Given the description of an element on the screen output the (x, y) to click on. 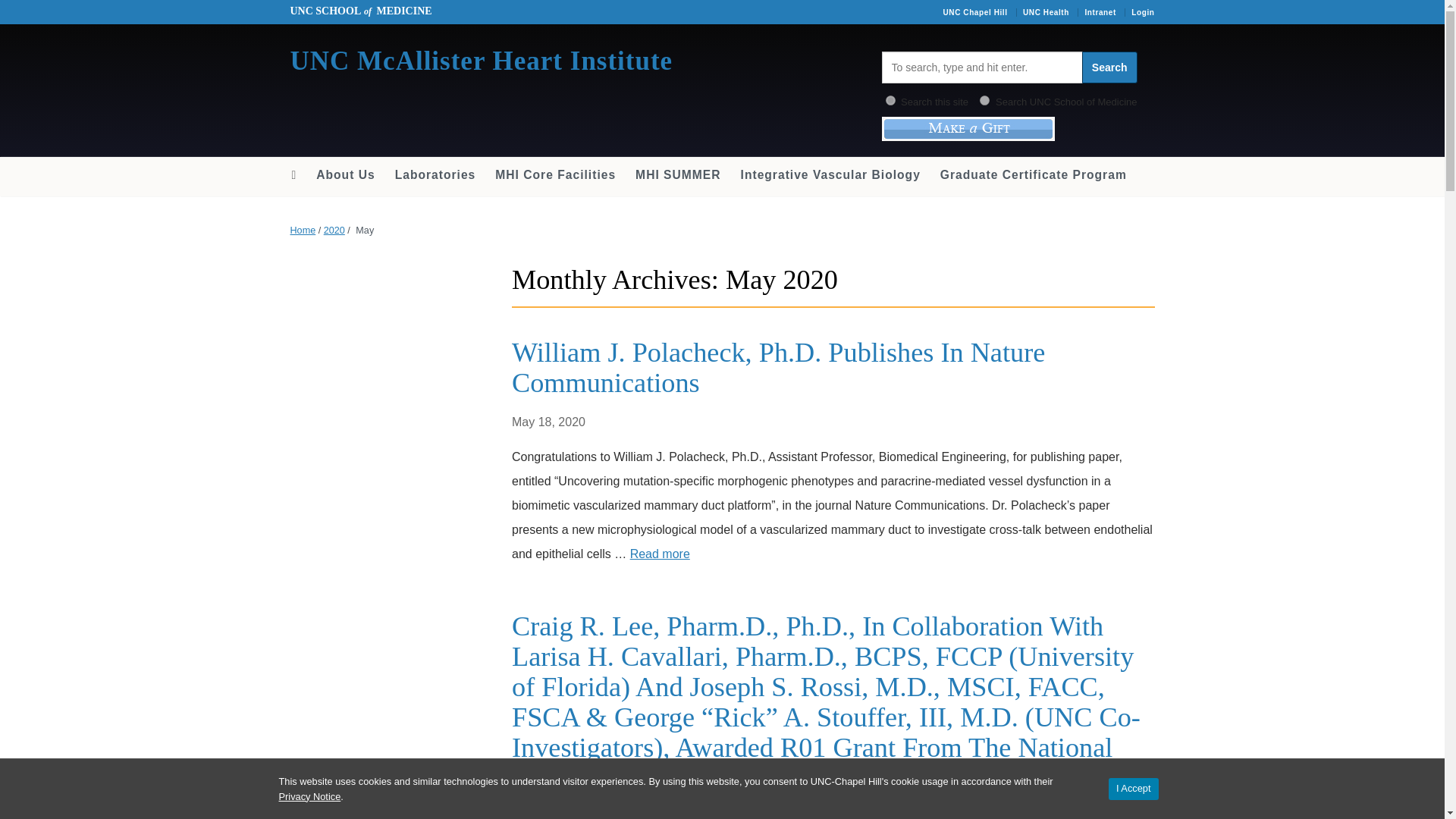
2020 (334, 230)
wp (890, 100)
gcs (984, 100)
Intranet (1099, 12)
UNC Health (1045, 12)
Site Admin Only (1142, 12)
Graduate Certificate Program (1033, 175)
About Us (344, 175)
Privacy Notice (309, 796)
Login (1142, 12)
Integrative Vascular Biology (830, 175)
MHI Core Facilities (555, 175)
UNC SCHOOL of MEDICINE (359, 11)
UNC Chapel Hill (974, 12)
Search (1109, 67)
